Given the description of an element on the screen output the (x, y) to click on. 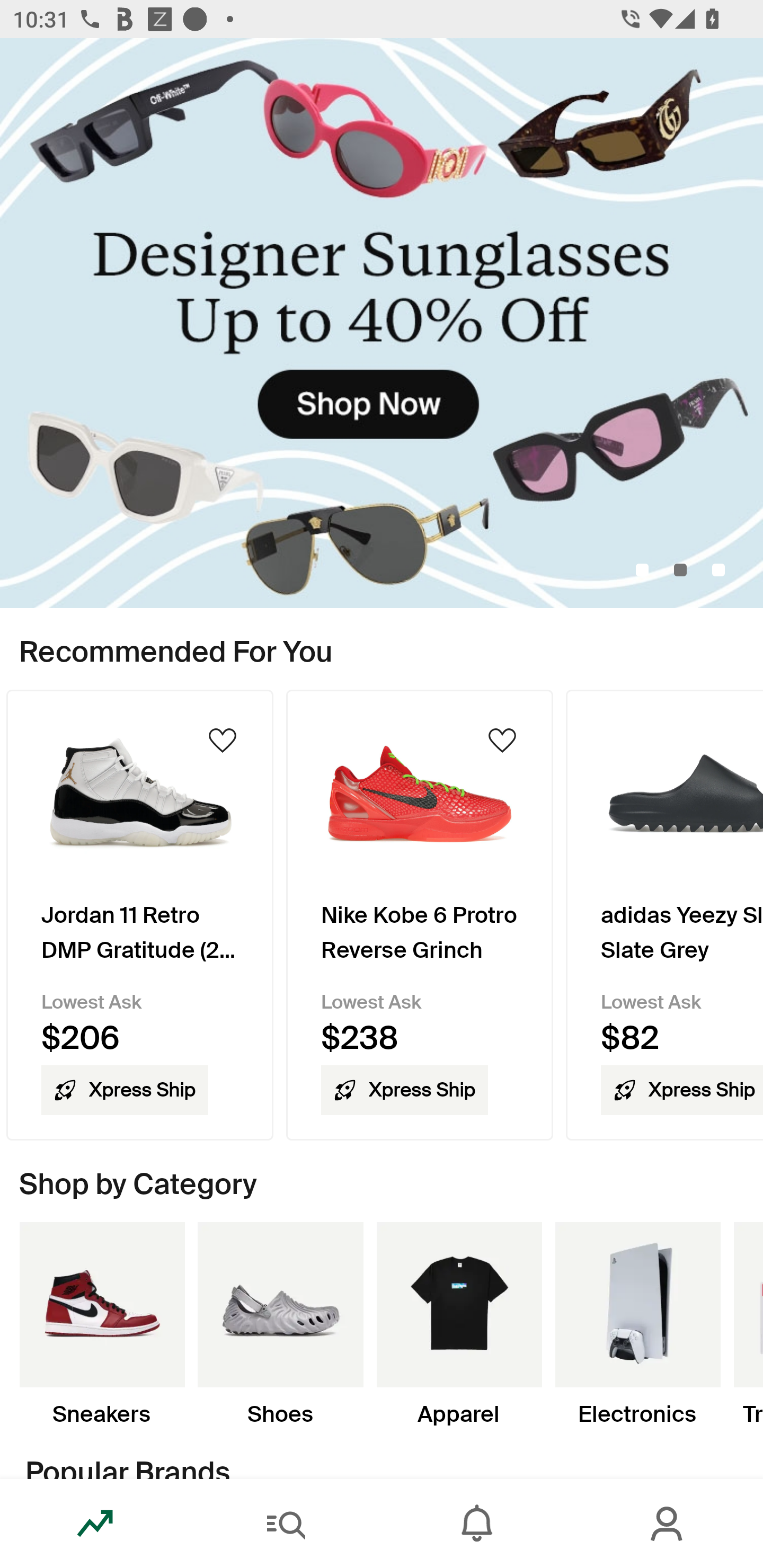
DesignerSunglassesUpto40_Off_Primary_Mobile.jpg (381, 322)
Product Image Sneakers (101, 1324)
Product Image Shoes (280, 1324)
Product Image Apparel (458, 1324)
Product Image Electronics (637, 1324)
Search (285, 1523)
Inbox (476, 1523)
Account (667, 1523)
